Given the description of an element on the screen output the (x, y) to click on. 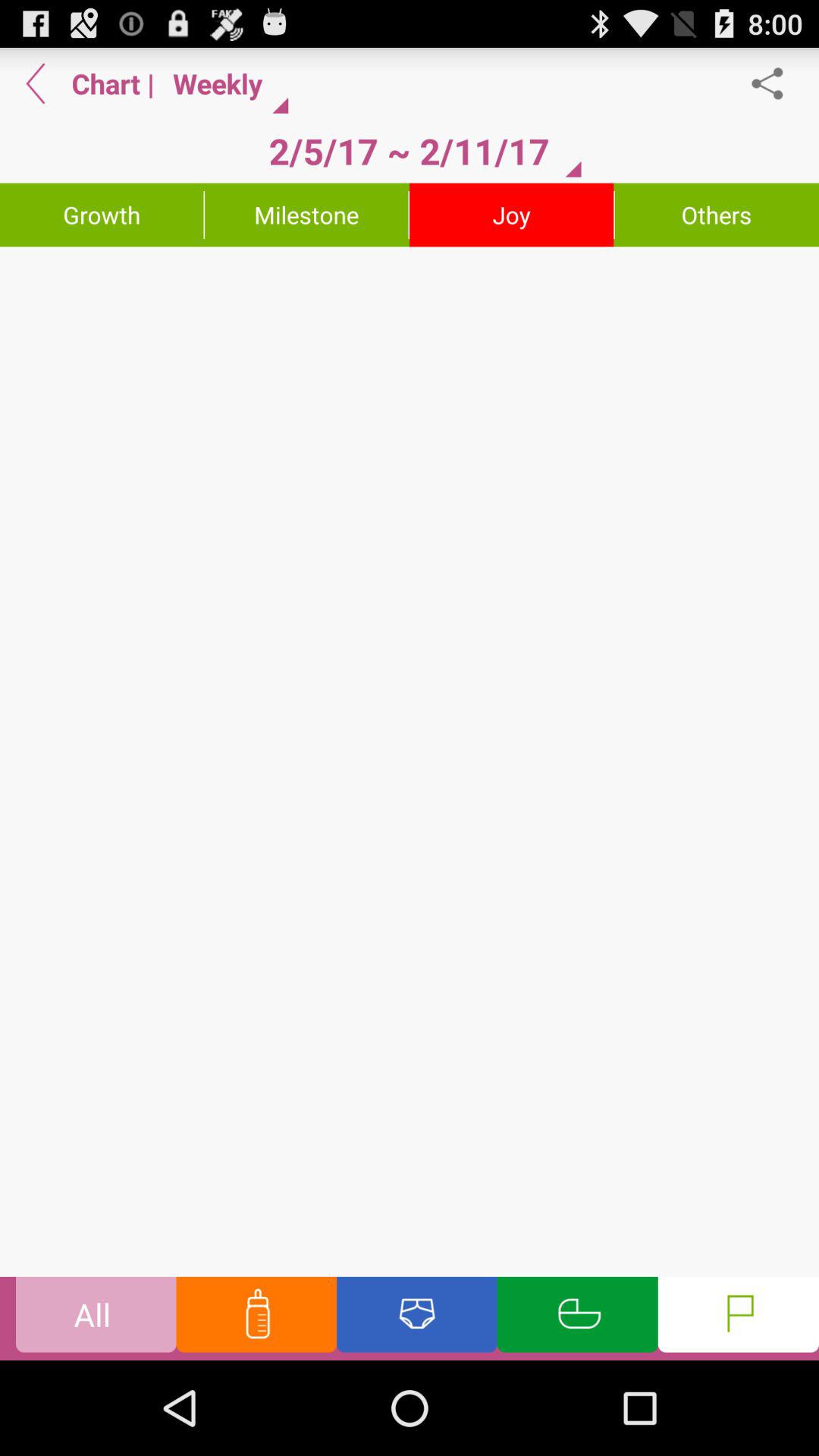
back (35, 83)
